Given the description of an element on the screen output the (x, y) to click on. 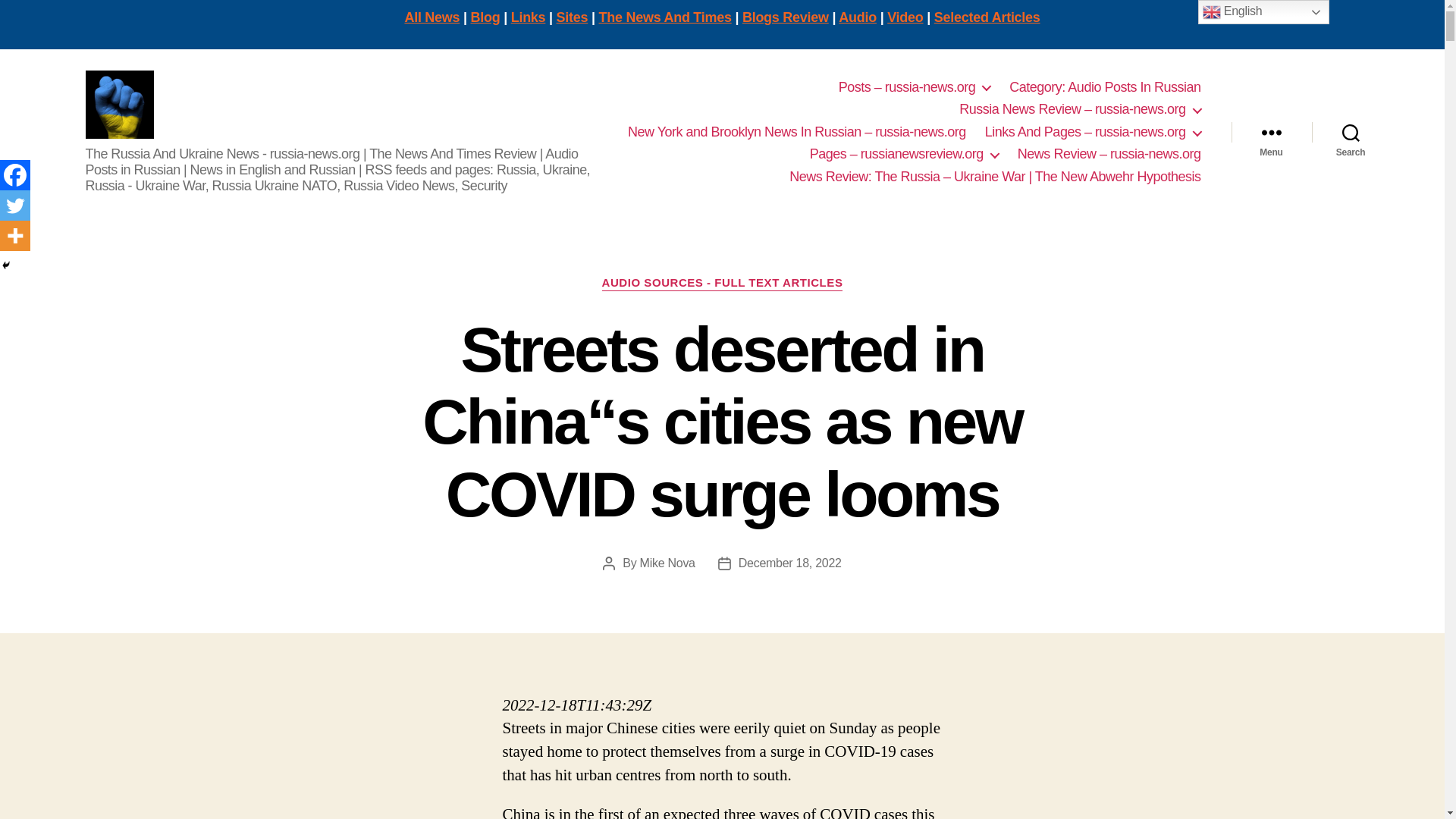
Video (904, 17)
Links (528, 17)
Sites (572, 17)
Category: Audio Posts In Russian (1104, 87)
Blog (485, 17)
Search (1350, 131)
Blogs Review (785, 17)
The News And Times (665, 17)
Selected Articles (987, 17)
Audio (857, 17)
Menu (1271, 131)
More (15, 235)
Hide (5, 265)
All News (432, 17)
Twitter (15, 205)
